Given the description of an element on the screen output the (x, y) to click on. 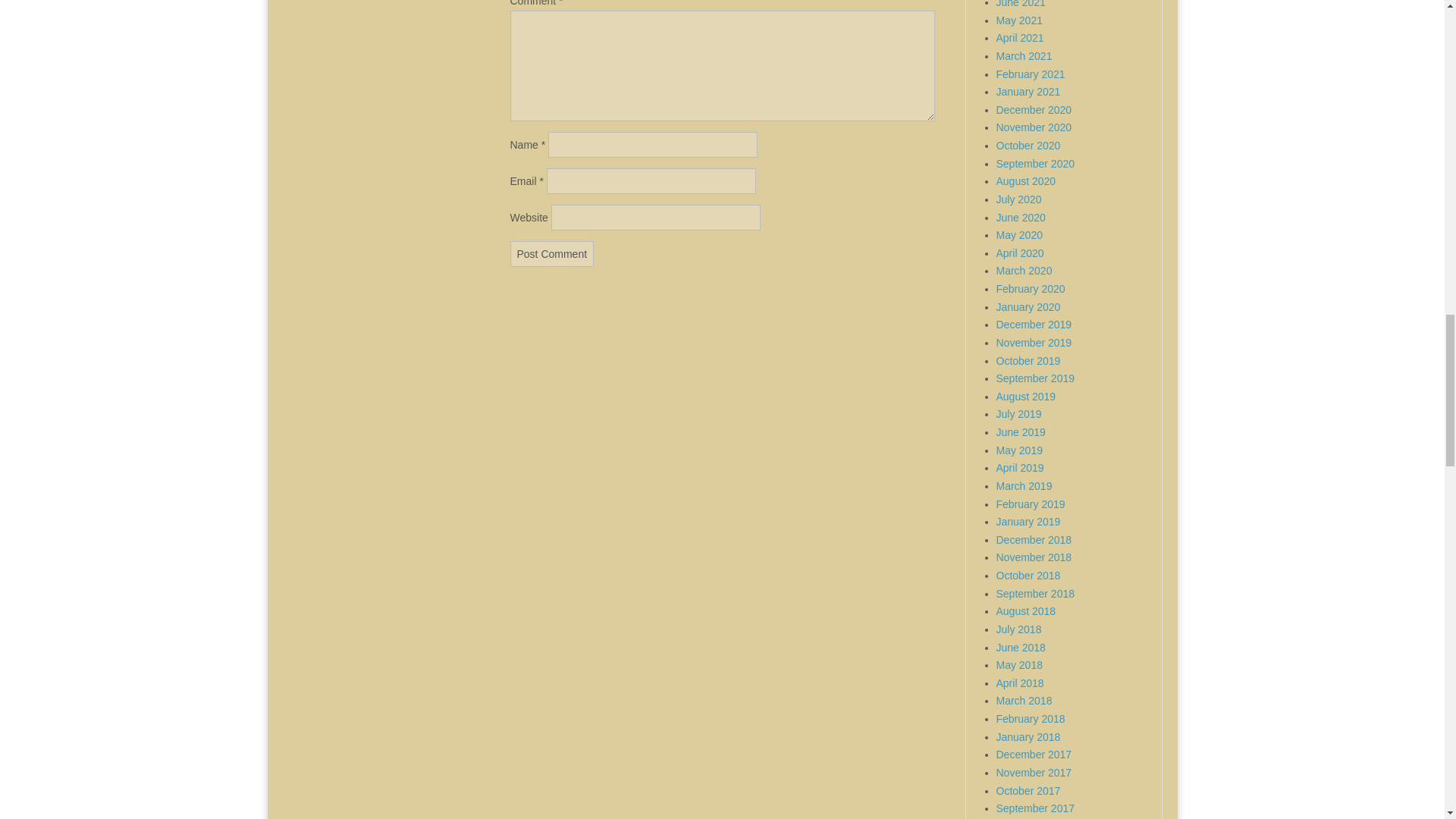
Post Comment (551, 253)
Post Comment (551, 253)
